Given the description of an element on the screen output the (x, y) to click on. 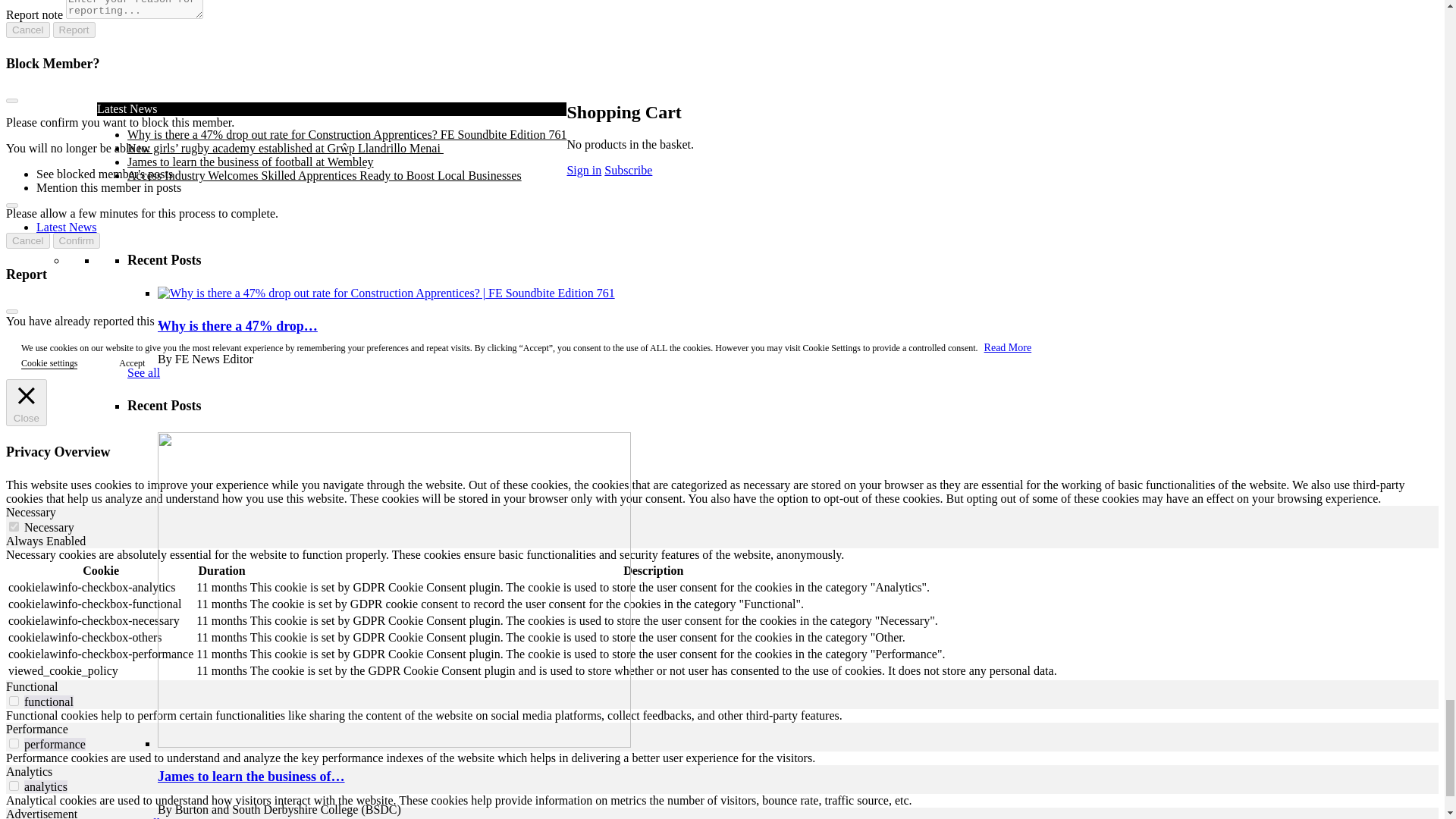
on (13, 700)
on (13, 743)
Cancel (27, 29)
on (13, 786)
on (13, 526)
Cancel (27, 240)
